Given the description of an element on the screen output the (x, y) to click on. 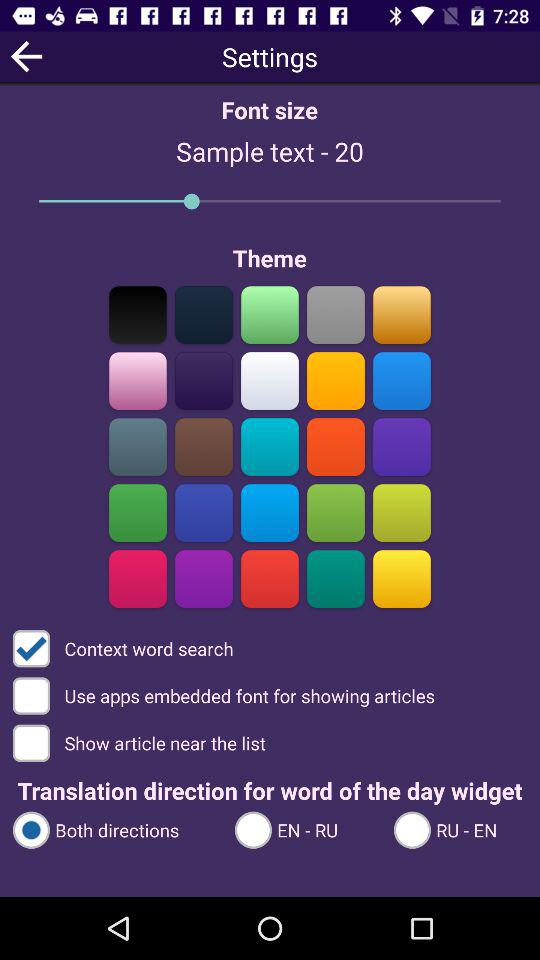
choose theme (335, 512)
